Given the description of an element on the screen output the (x, y) to click on. 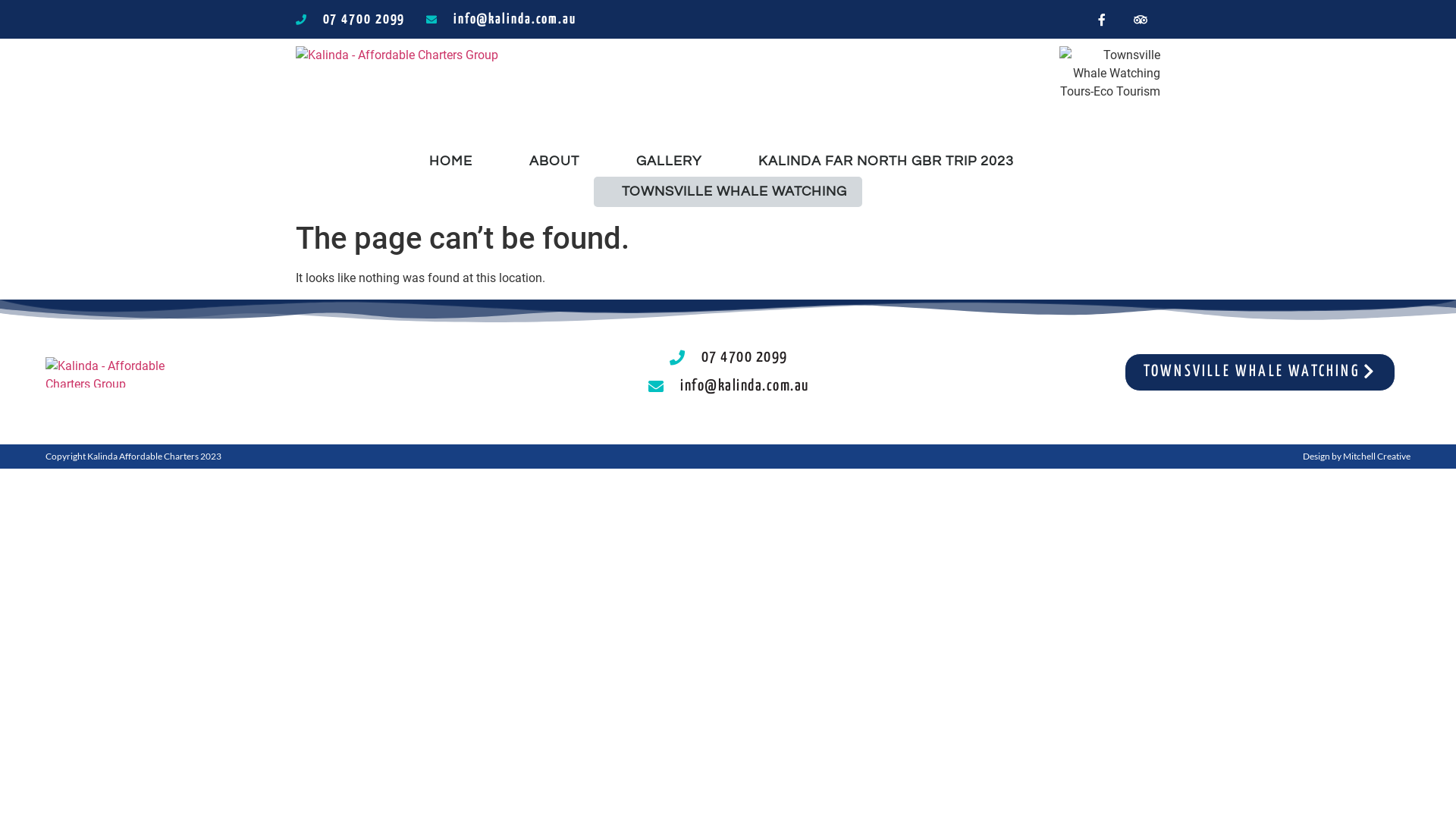
TOWNSVILLE WHALE WATCHING Element type: text (1259, 372)
HOME Element type: text (450, 161)
TOWNSVILLE WHALE WATCHING Element type: text (734, 191)
info@kalinda.com.au Element type: text (501, 19)
GALLERY Element type: text (668, 161)
Design by Mitchell Creative Element type: text (1356, 455)
KALINDA FAR NORTH GBR TRIP 2023 Element type: text (886, 161)
info@kalinda.com.au Element type: text (727, 385)
07 4700 2099 Element type: text (349, 19)
ABOUT Element type: text (554, 161)
07 4700 2099 Element type: text (727, 357)
